Given the description of an element on the screen output the (x, y) to click on. 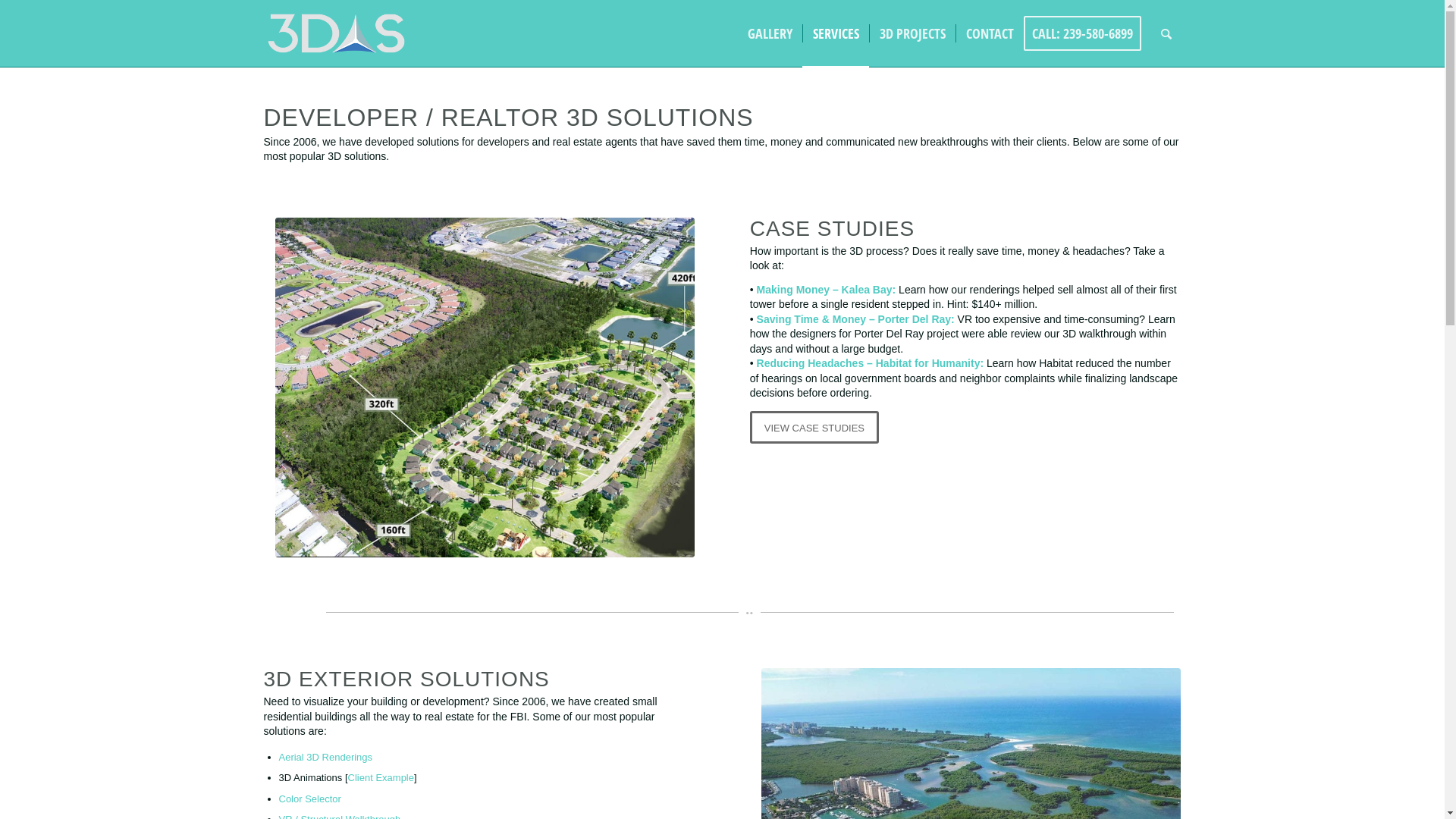
3D PROJECTS Element type: text (912, 33)
SERVICES Element type: text (835, 33)
CONTACT Element type: text (989, 33)
VIEW CASE STUDIES Element type: text (813, 427)
GALLERY Element type: text (769, 33)
Color Selector Element type: text (310, 798)
CALL: 239-580-6899 Element type: text (1087, 33)
Client Example Element type: text (381, 777)
3DAS Logo (2nd Version) Element type: hover (336, 33)
Habitat for Humanity Community Aerial 3D Rendering Element type: hover (484, 387)
Aerial 3D Renderings Element type: text (326, 756)
